Given the description of an element on the screen output the (x, y) to click on. 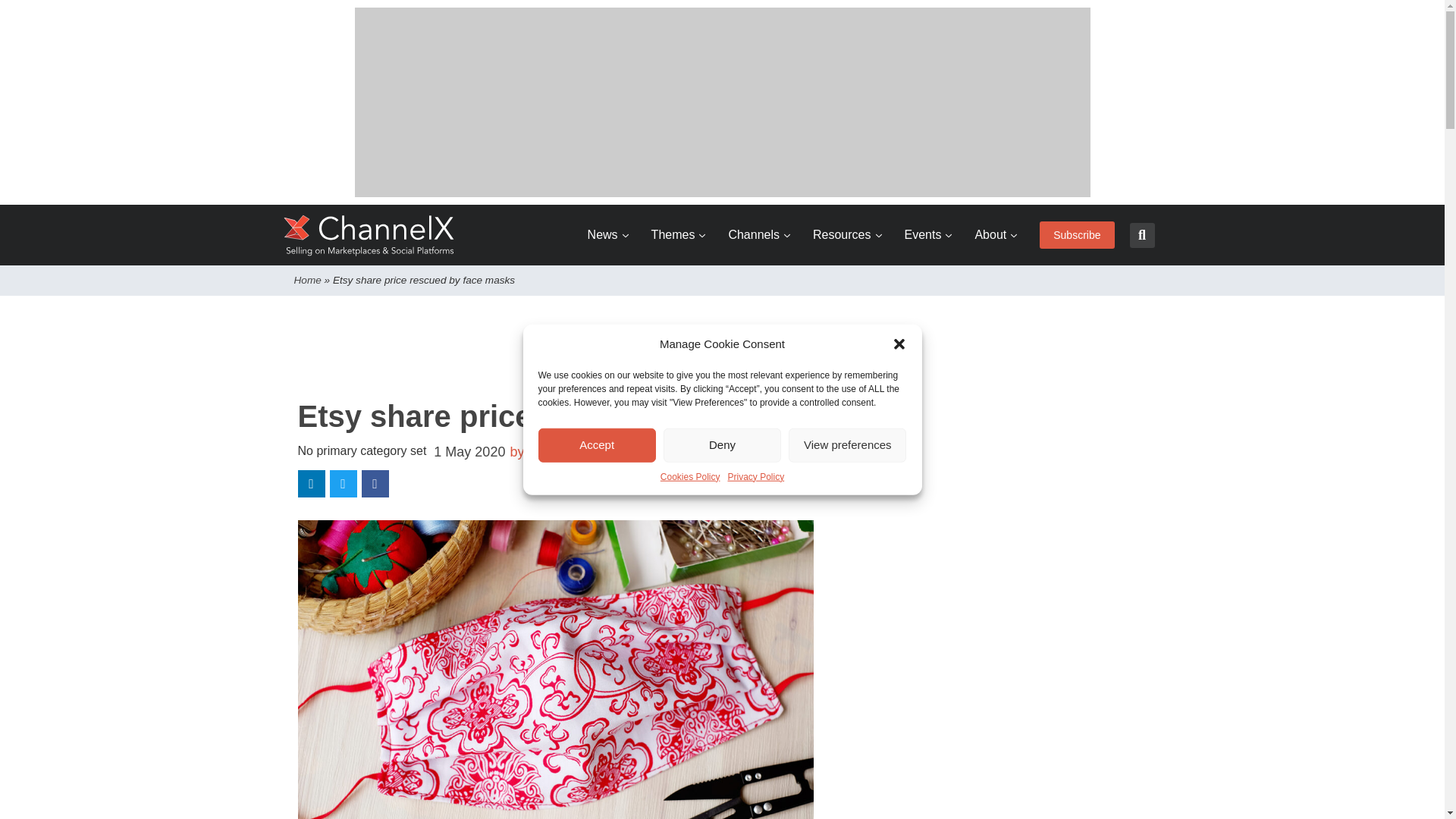
Privacy Policy (756, 476)
News (607, 234)
Deny (721, 444)
Cookies Policy (690, 476)
ChannelX Home Page (369, 234)
Accept (597, 444)
Channels (758, 234)
View preferences (847, 444)
Themes (678, 234)
